Given the description of an element on the screen output the (x, y) to click on. 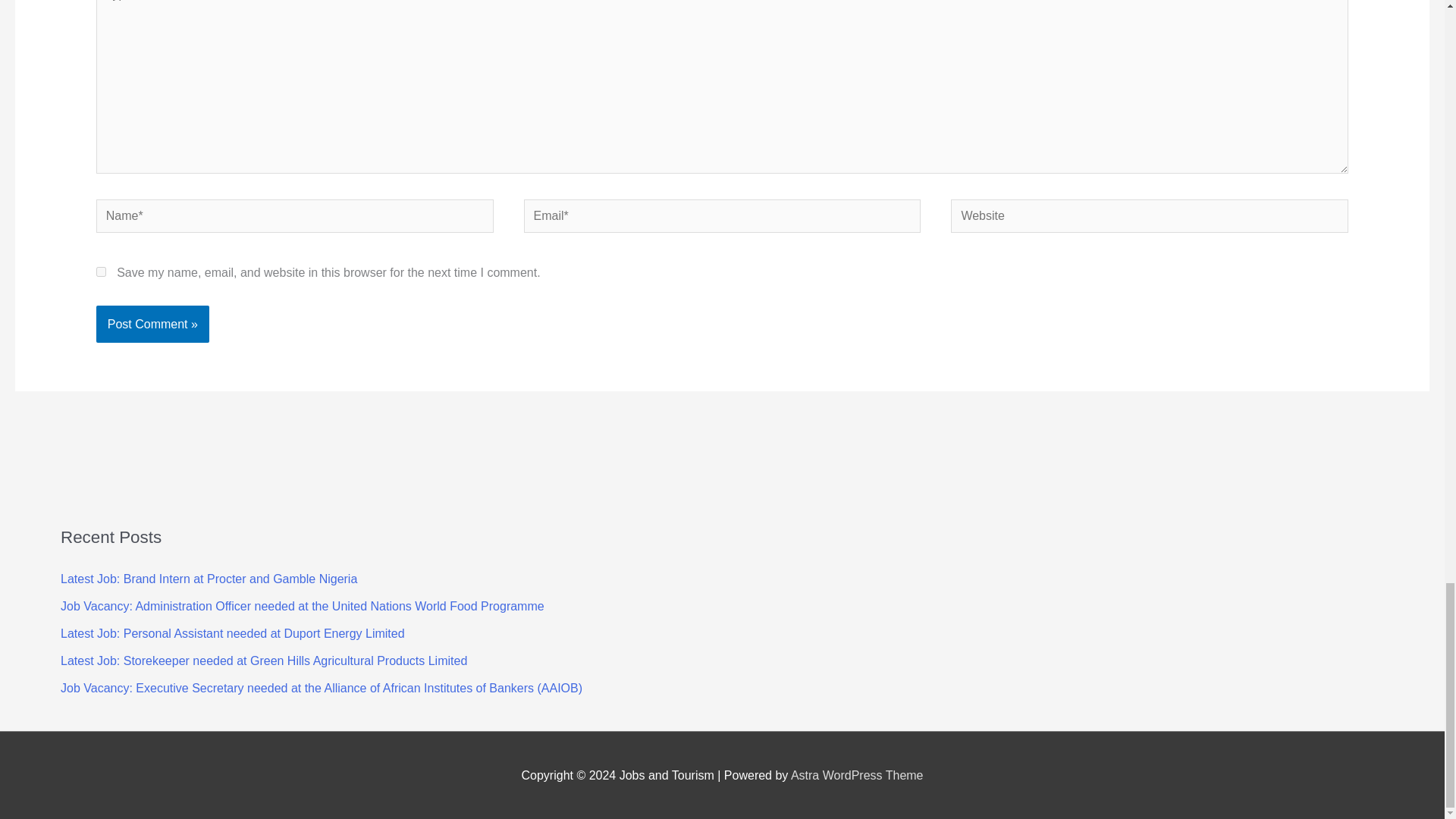
yes (101, 271)
Astra WordPress Theme (856, 775)
Latest Job: Brand Intern at Procter and Gamble Nigeria (208, 578)
